Given the description of an element on the screen output the (x, y) to click on. 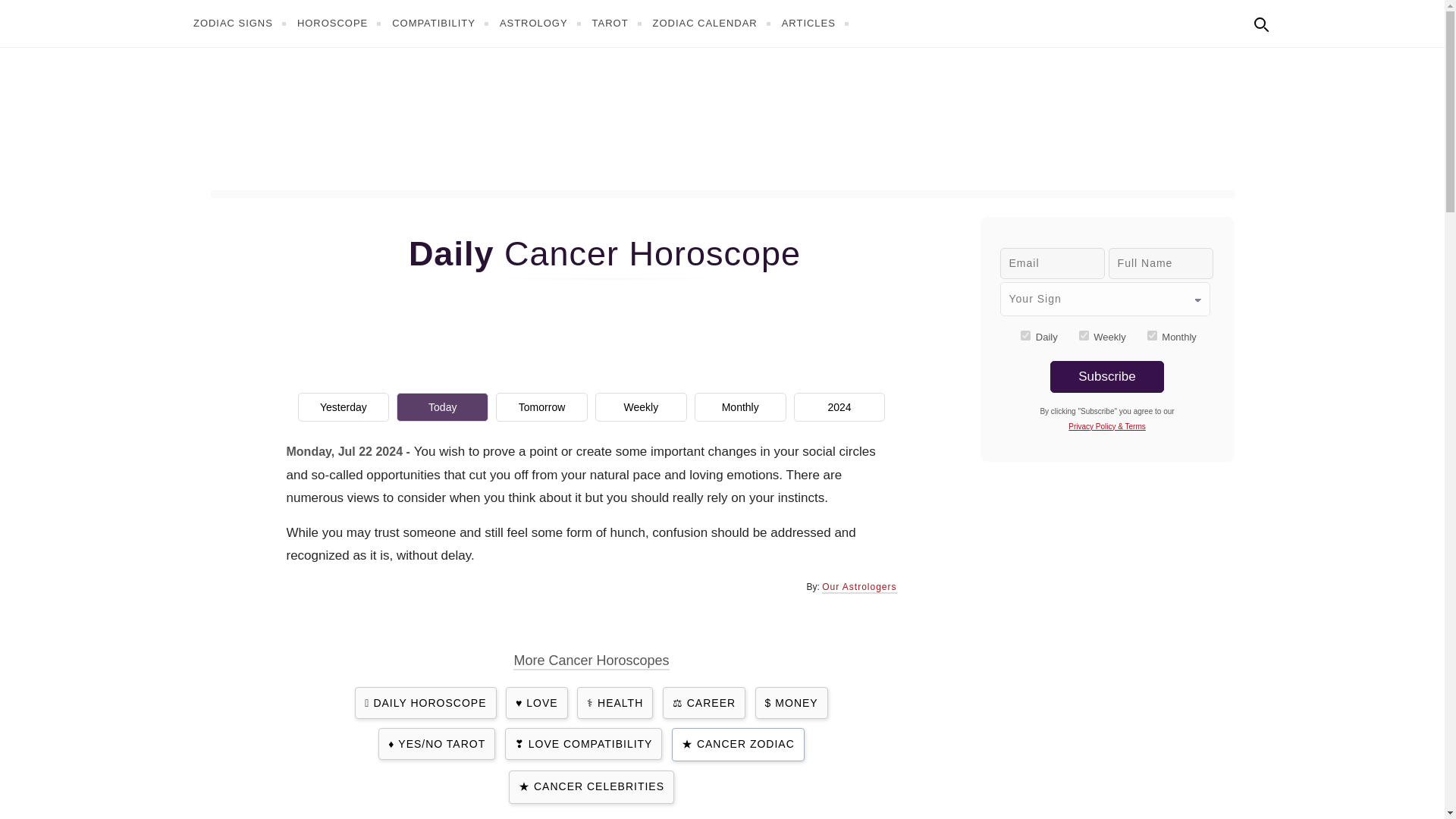
weekly (1083, 335)
In English (1294, 21)
HOROSCOPE (341, 23)
daily (1025, 335)
monthly (1152, 335)
ZODIAC SIGNS (241, 23)
